Given the description of an element on the screen output the (x, y) to click on. 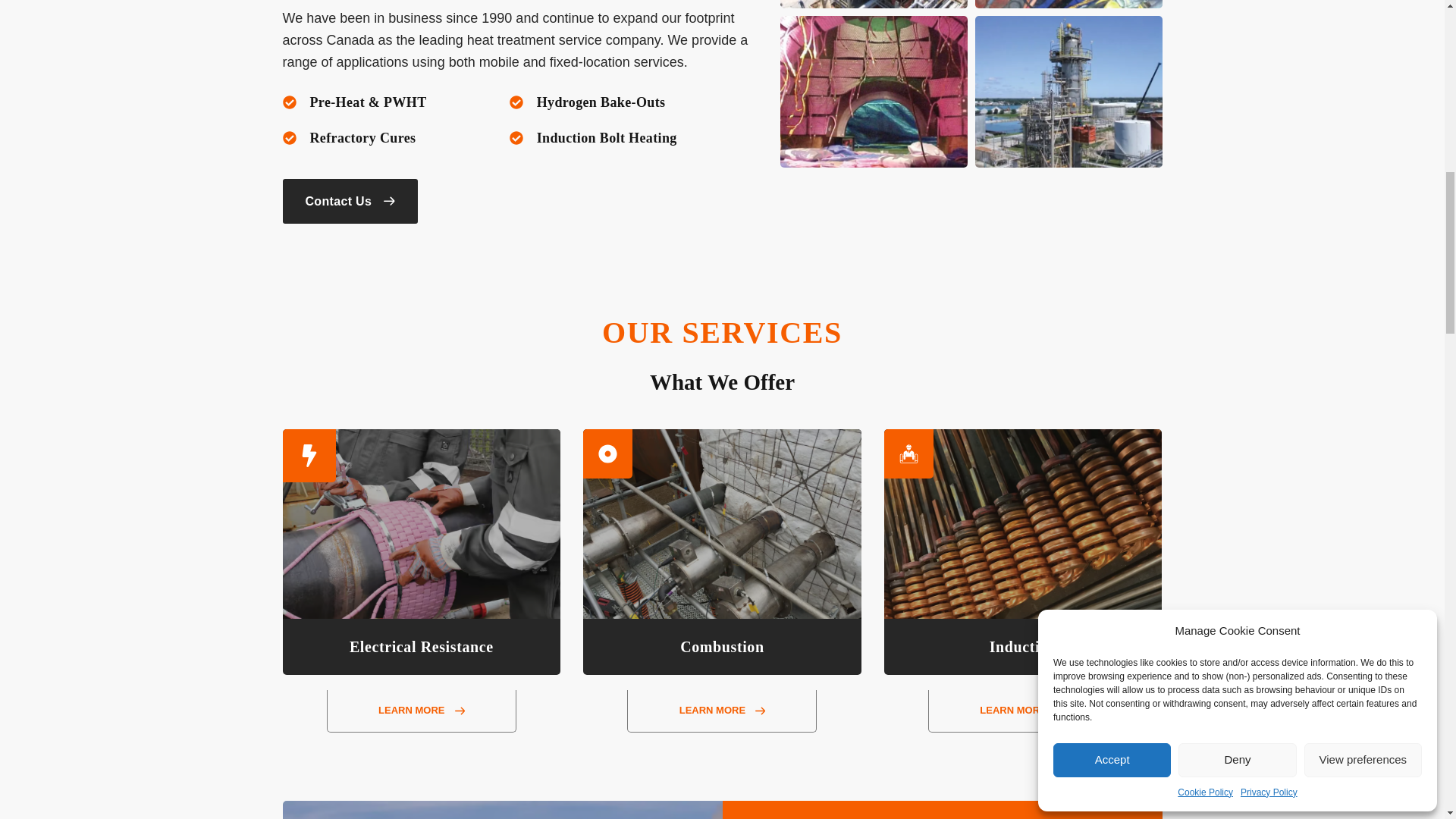
leading4-640x427-4 (872, 91)
Scroll back to top (1422, 735)
leading1-640x427-1 (1068, 4)
leading2-640x427-3 (1068, 91)
